Given the description of an element on the screen output the (x, y) to click on. 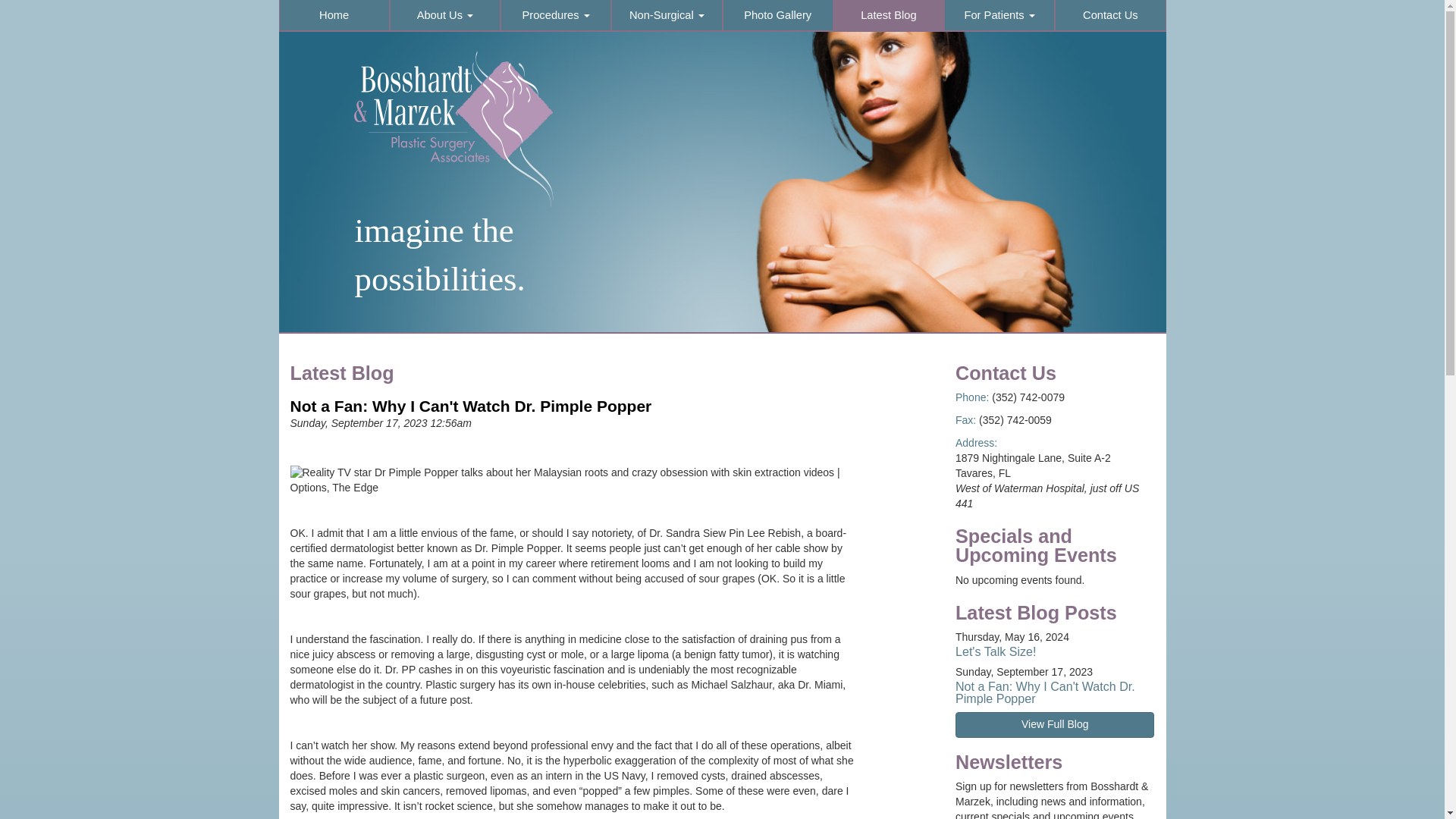
About Us (444, 15)
Home (333, 15)
Non-Surgical (665, 15)
Procedures (555, 15)
For Patients (999, 15)
Photo Gallery (777, 15)
Latest Blog (888, 15)
